Given the description of an element on the screen output the (x, y) to click on. 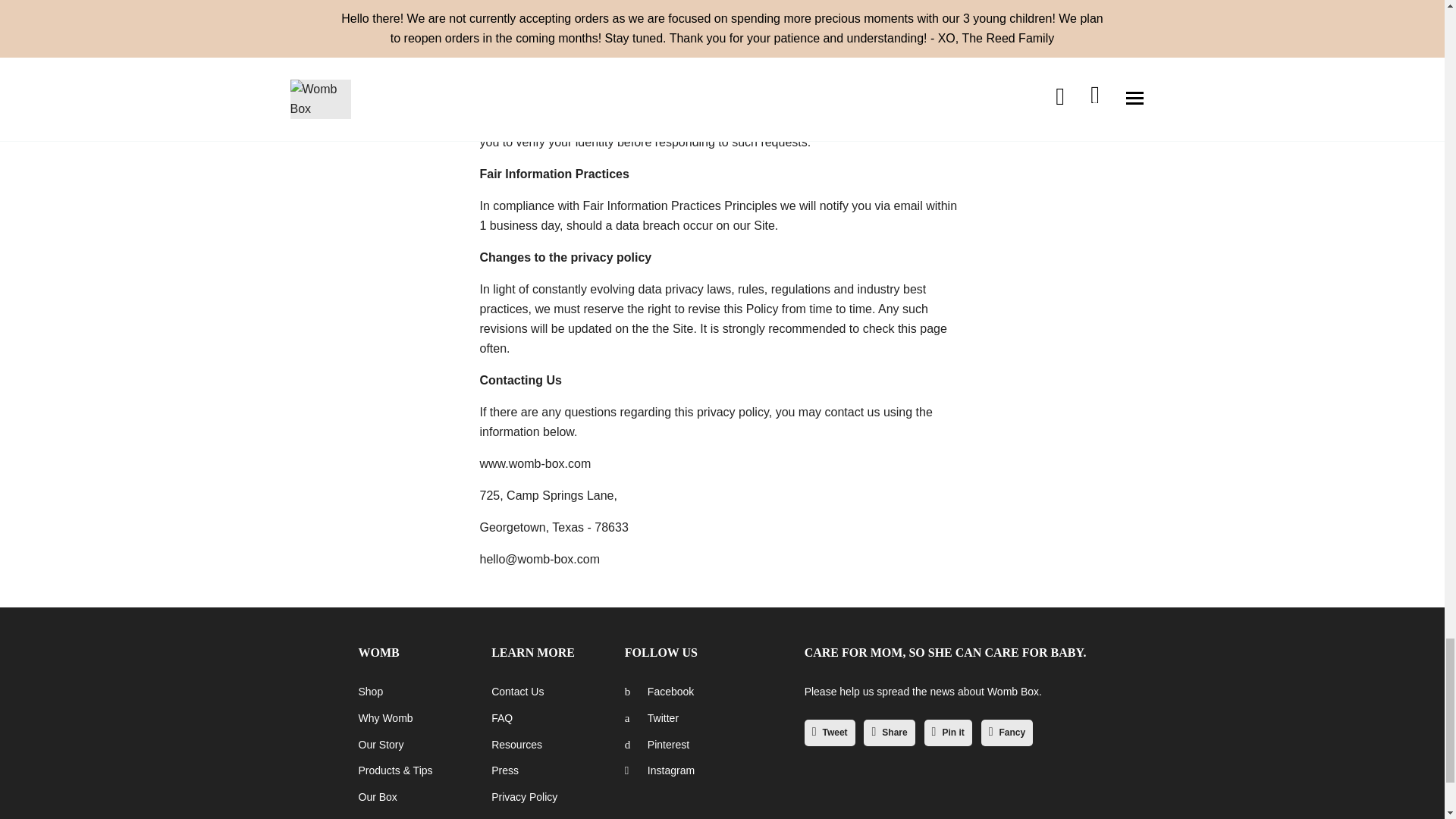
Pin it (948, 732)
Shop (370, 691)
Our Story (380, 744)
FAQ (502, 717)
Resources (516, 744)
Twitter (651, 717)
Facebook (659, 691)
Privacy Policy (524, 797)
Tweet (830, 732)
Press (505, 770)
Contact Us (517, 691)
Instagram (659, 770)
Fancy (1007, 732)
Why Womb (385, 717)
Share (888, 732)
